Given the description of an element on the screen output the (x, y) to click on. 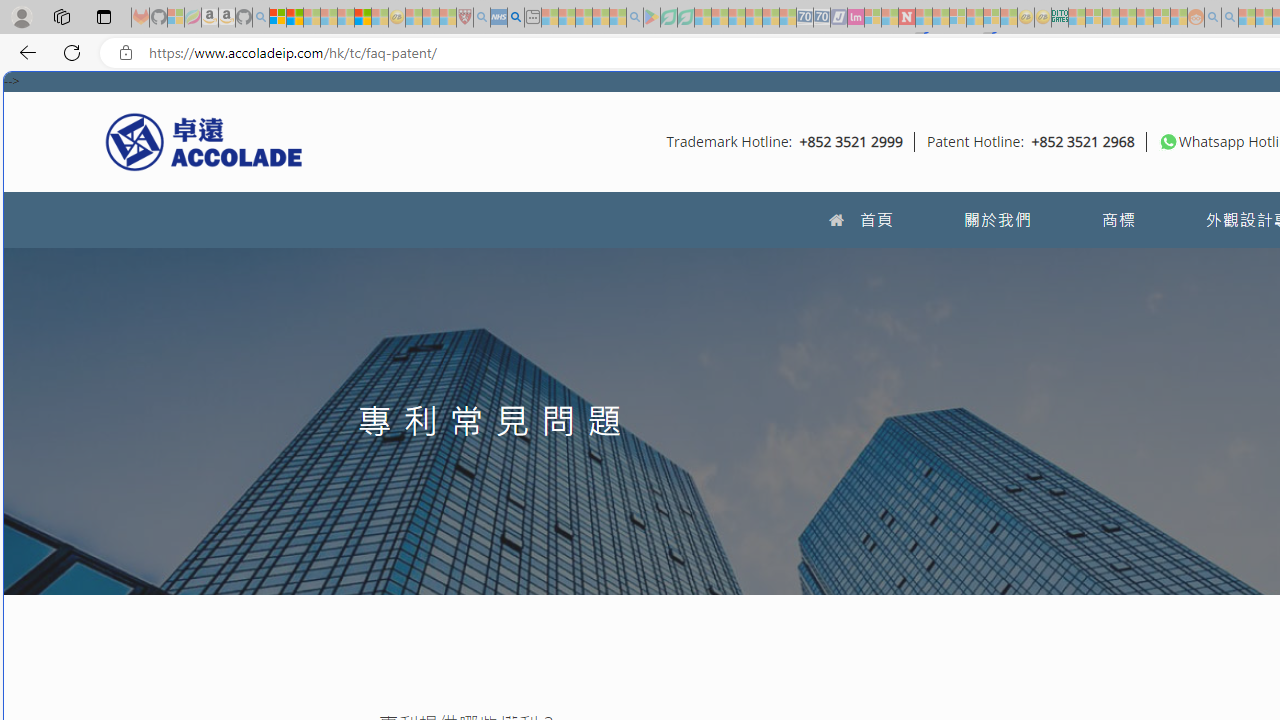
Personal Profile (21, 16)
Trusted Community Engagement and Contributions | Guidelines (923, 17)
Cheap Car Rentals - Save70.com - Sleeping (804, 17)
Pets - MSN - Sleeping (600, 17)
MSNBC - MSN - Sleeping (1076, 17)
list of asthma inhalers uk - Search - Sleeping (481, 17)
Recipes - MSN - Sleeping (413, 17)
Microsoft Start - Sleeping (1247, 17)
The Weather Channel - MSN - Sleeping (311, 17)
New tab - Sleeping (532, 17)
